Given the description of an element on the screen output the (x, y) to click on. 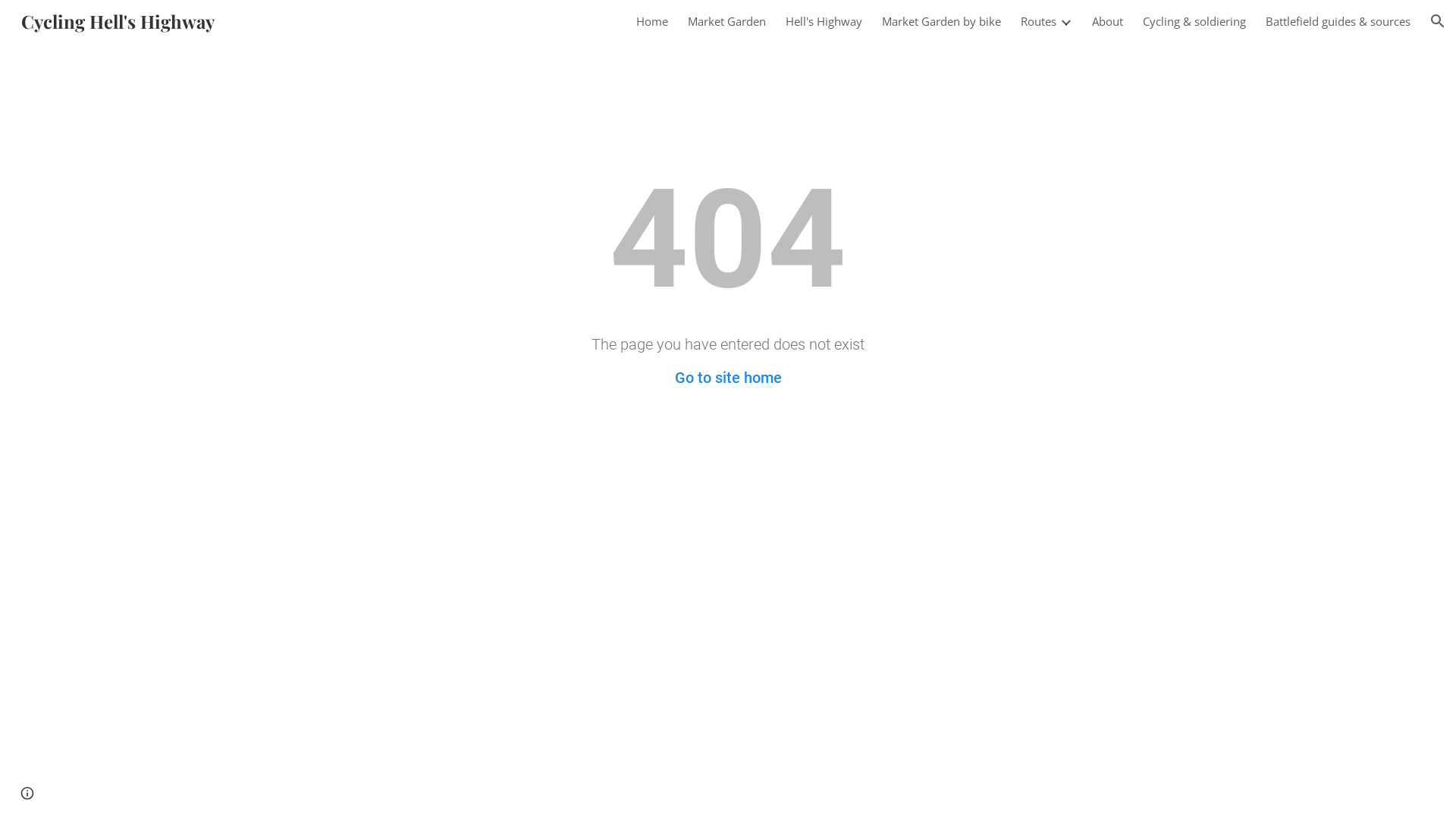
Cycling Hell's Highway Element type: text (117, 18)
Expand/Collapse Element type: hover (1065, 20)
Battlefield guides & sources Element type: text (1337, 20)
Cycling & soldiering Element type: text (1193, 20)
About Element type: text (1107, 20)
Market Garden Element type: text (726, 20)
Routes Element type: text (1038, 20)
Home Element type: text (652, 20)
Go to site home Element type: text (727, 377)
Hell's Highway Element type: text (823, 20)
Market Garden by bike Element type: text (941, 20)
